Given the description of an element on the screen output the (x, y) to click on. 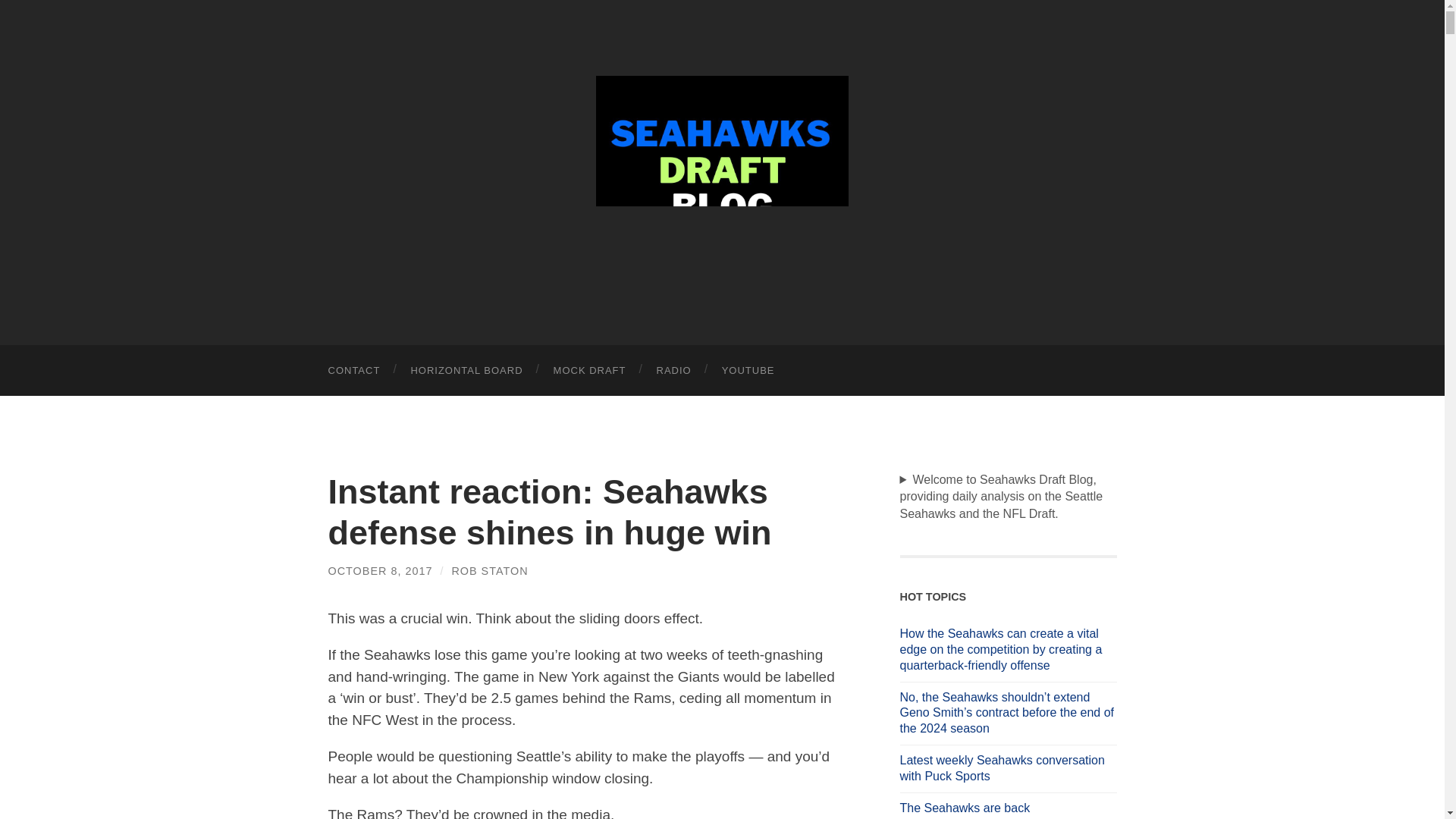
ROB STATON (489, 571)
YOUTUBE (748, 369)
Seahawks Draft Blog (721, 170)
CONTACT (353, 369)
OCTOBER 8, 2017 (379, 571)
HORIZONTAL BOARD (465, 369)
RADIO (674, 369)
MOCK DRAFT (590, 369)
Posts by Rob Staton (489, 571)
